Given the description of an element on the screen output the (x, y) to click on. 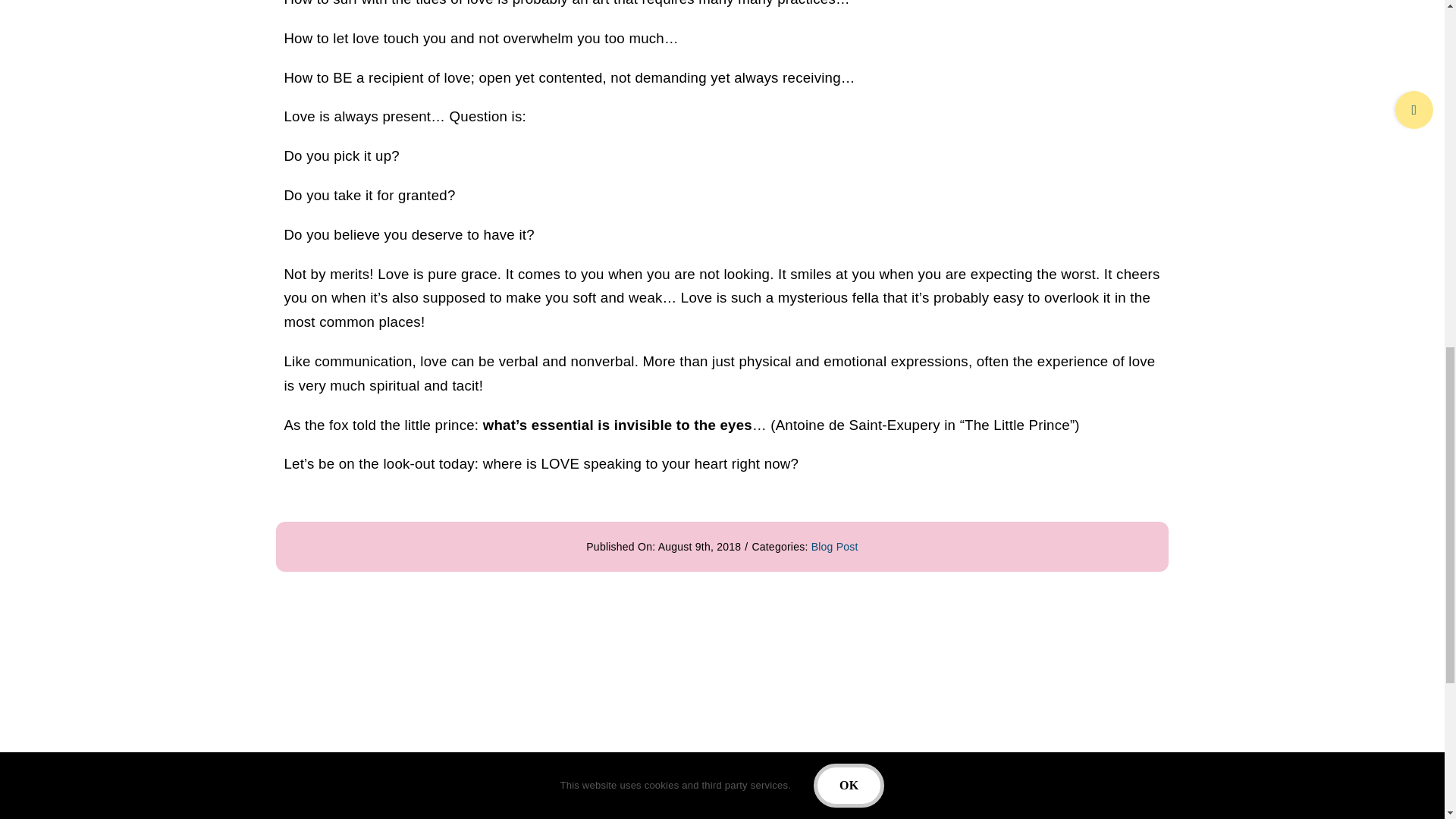
Blog Post (834, 546)
